Given the description of an element on the screen output the (x, y) to click on. 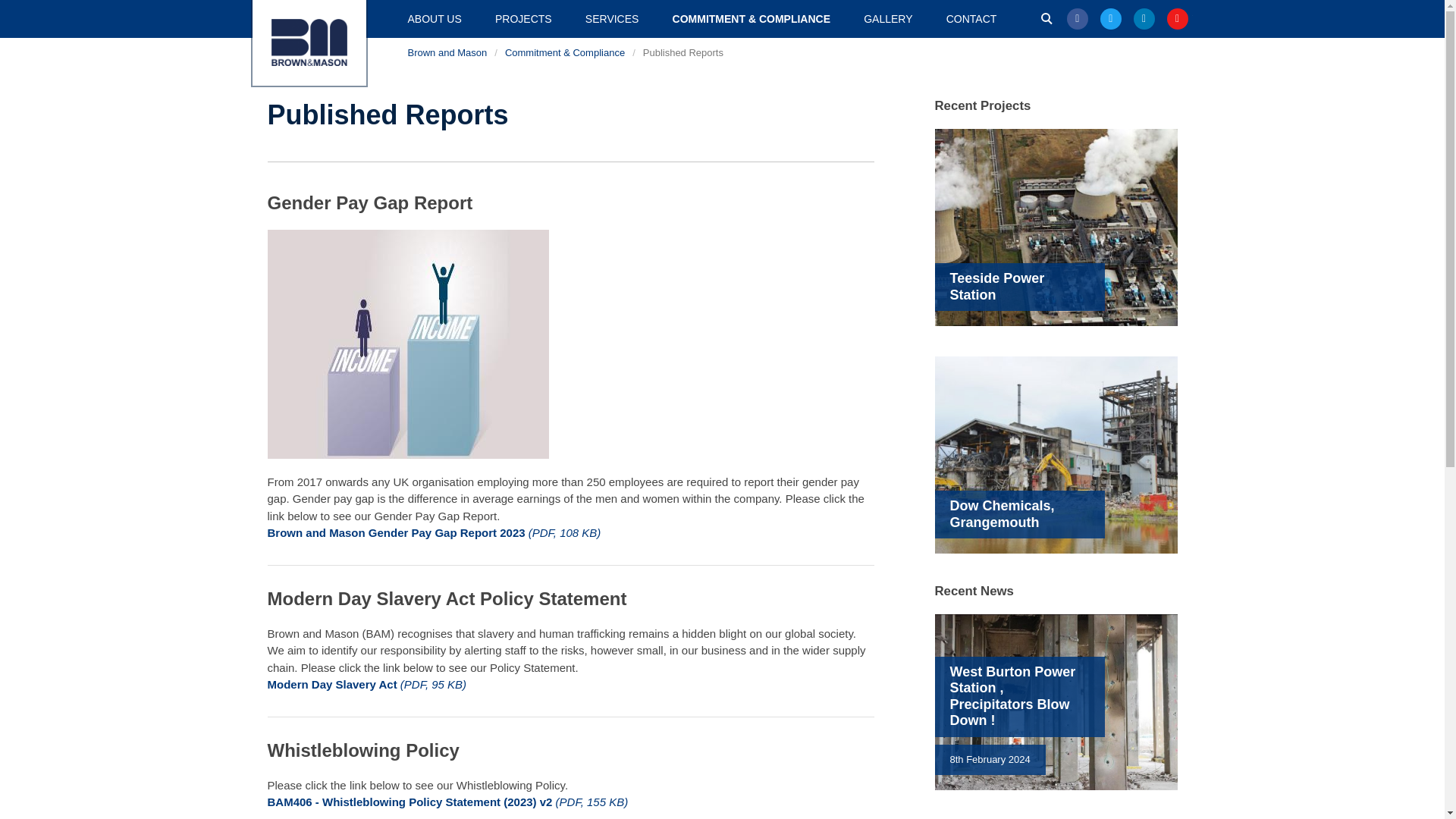
PROJECTS (523, 18)
Search (1045, 19)
SERVICES (611, 18)
ABOUT US (435, 18)
